Given the description of an element on the screen output the (x, y) to click on. 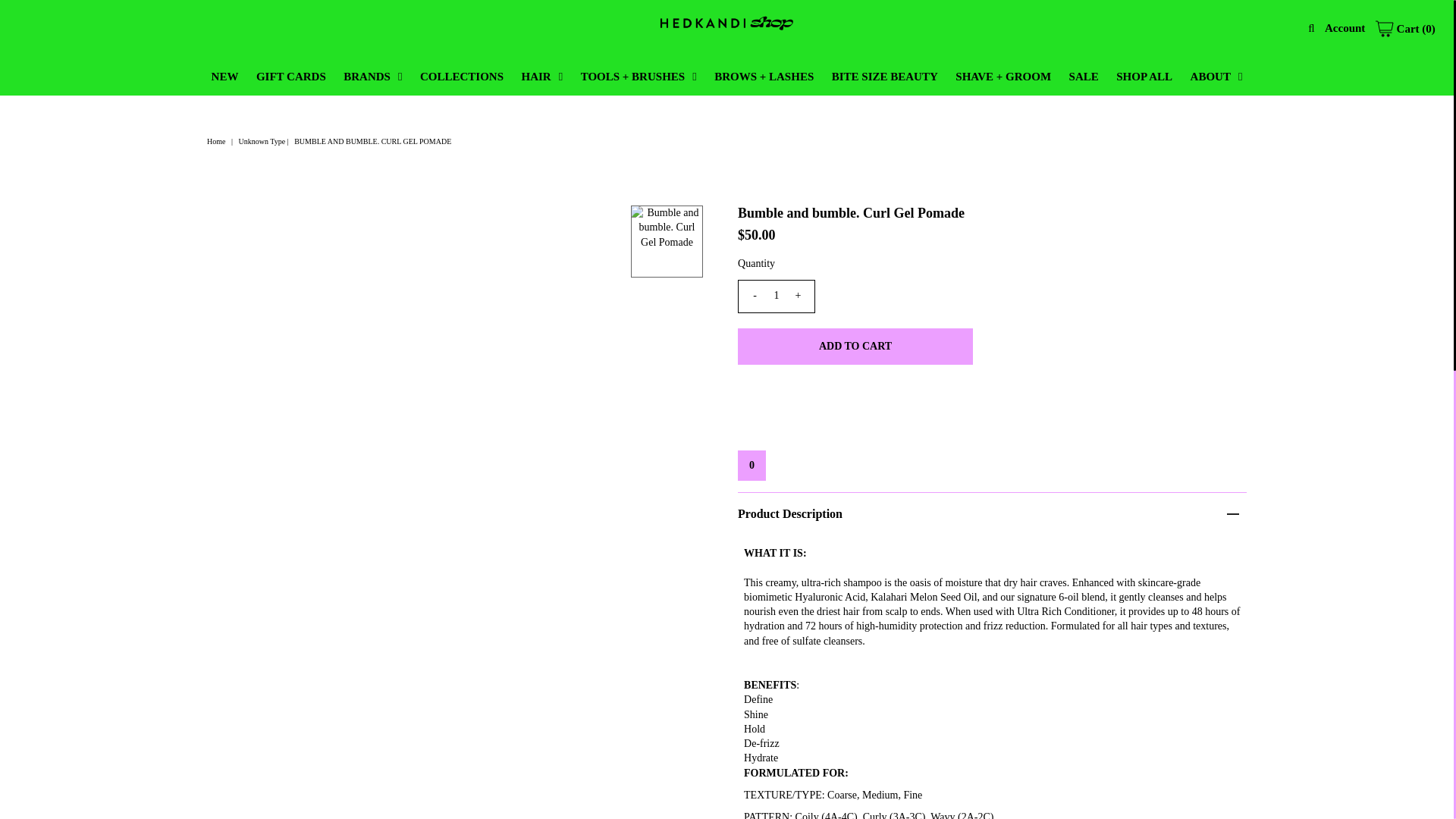
Add to Cart (855, 346)
1 (776, 295)
0 (751, 465)
Home (217, 141)
Add to Wishlist (751, 465)
